Given the description of an element on the screen output the (x, y) to click on. 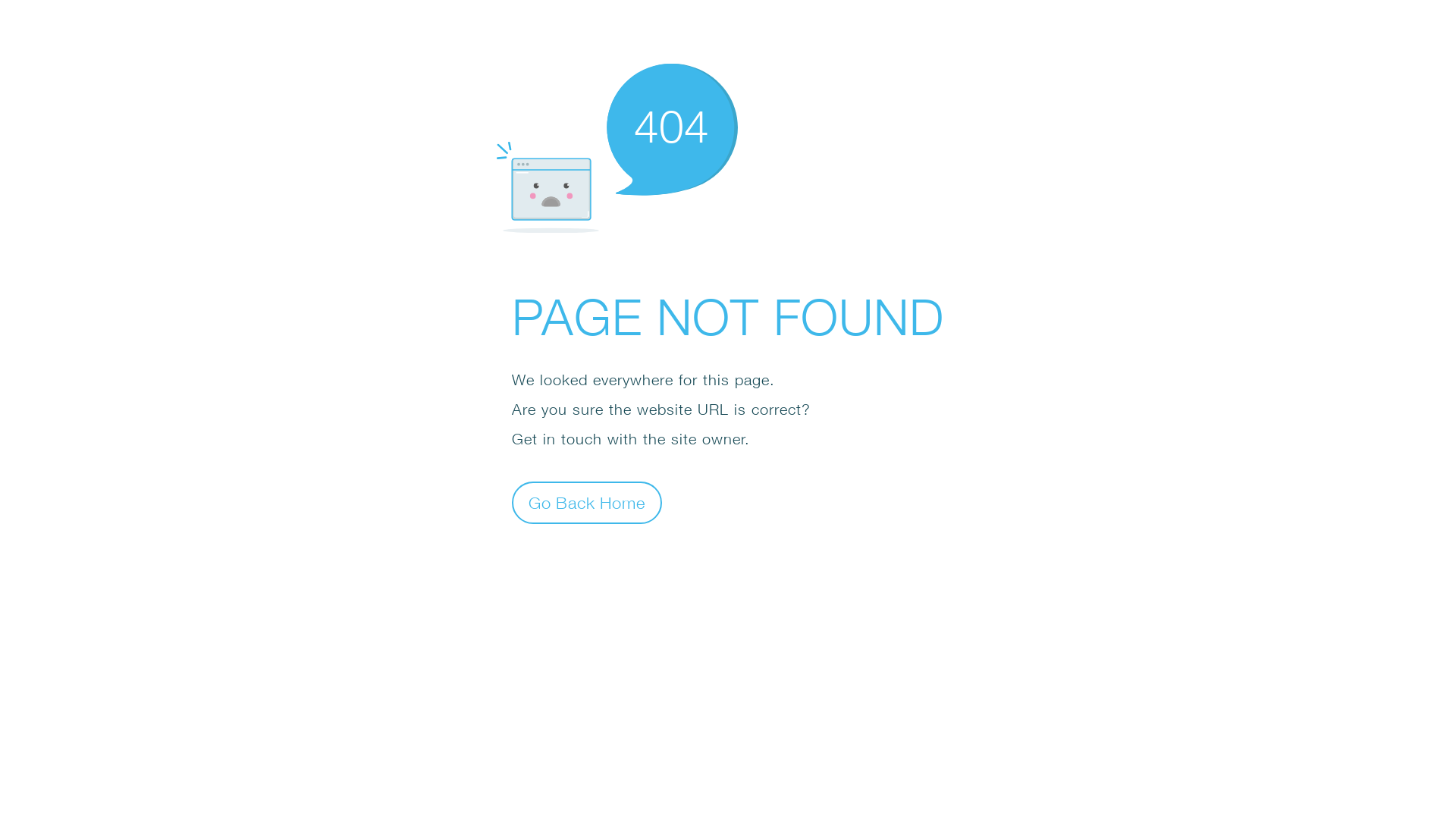
Go Back Home Element type: text (586, 502)
